Given the description of an element on the screen output the (x, y) to click on. 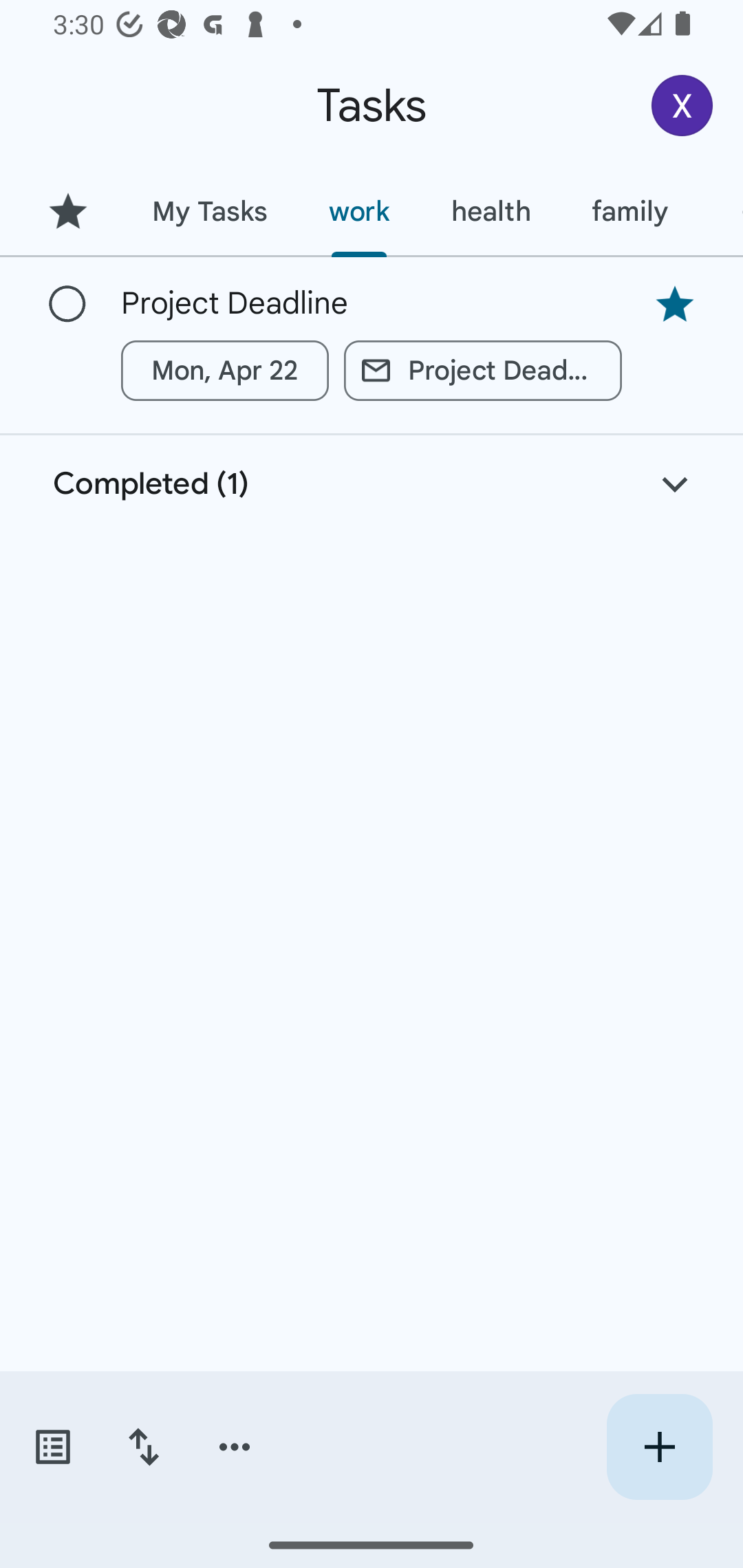
Starred (67, 211)
My Tasks (209, 211)
health (490, 211)
family (629, 211)
Remove star (674, 303)
Mark as complete (67, 304)
Mon, Apr 22 (225, 369)
Project Deadline Related link (482, 369)
Completed (1) (371, 484)
Switch task lists (52, 1447)
Create new task (659, 1446)
Change sort order (143, 1446)
More options (234, 1446)
